Given the description of an element on the screen output the (x, y) to click on. 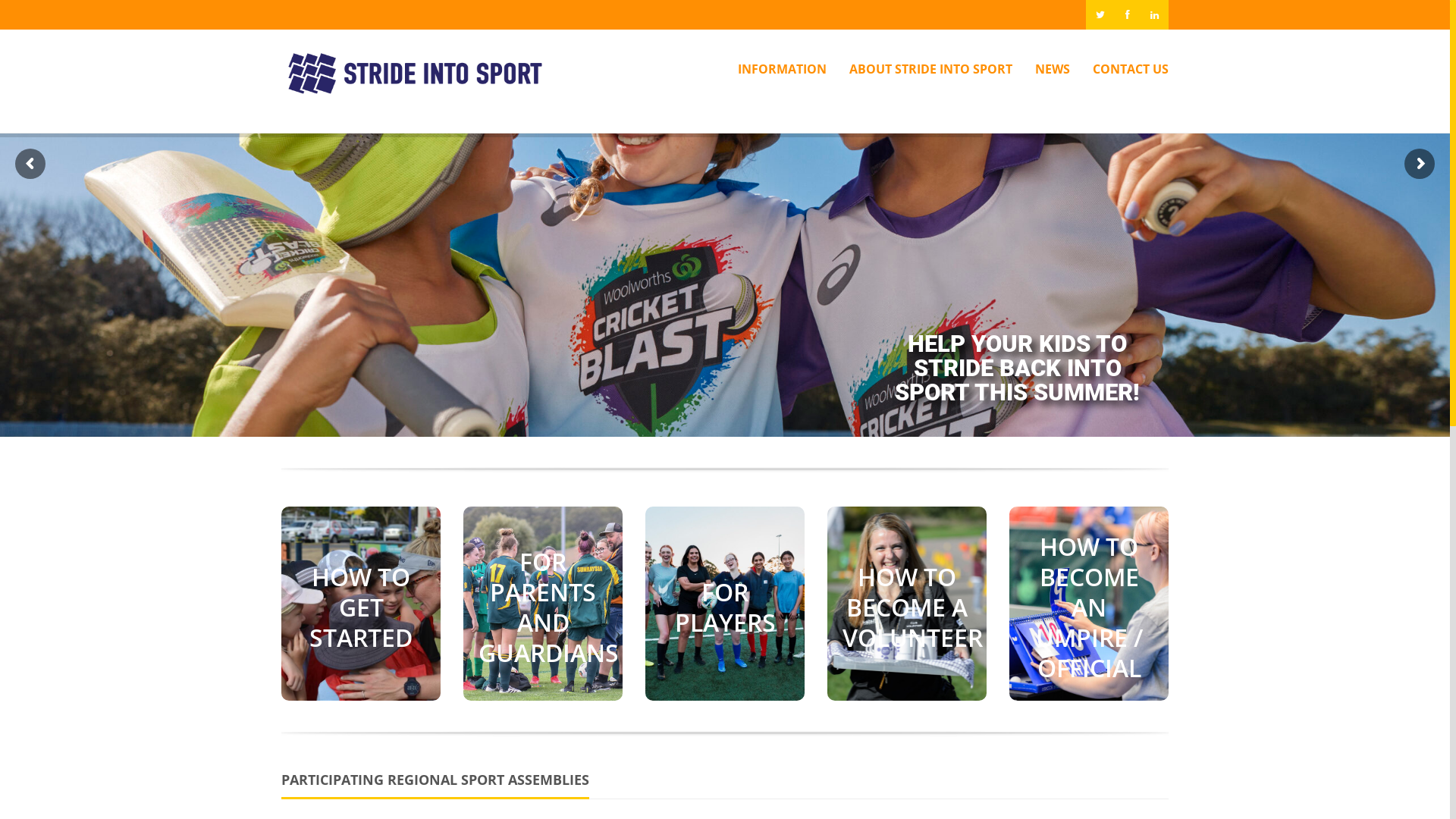
CLICK FOR MORE Element type: text (360, 656)
CLICK FOR MORE Element type: text (542, 665)
NEWS Element type: text (1045, 68)
CLICK FOR MORE Element type: text (1088, 665)
Linkedin Element type: hover (1154, 14)
Twitter Element type: hover (1099, 14)
ABOUT STRIDE INTO SPORT Element type: text (923, 68)
Facebook Element type: hover (1127, 14)
Stride into Sport Element type: hover (415, 73)
CLICK FOR MORE Element type: text (724, 665)
CONTACT US Element type: text (1123, 68)
INFORMATION Element type: text (775, 68)
CLICK FOR MORE Element type: text (906, 665)
